Given the description of an element on the screen output the (x, y) to click on. 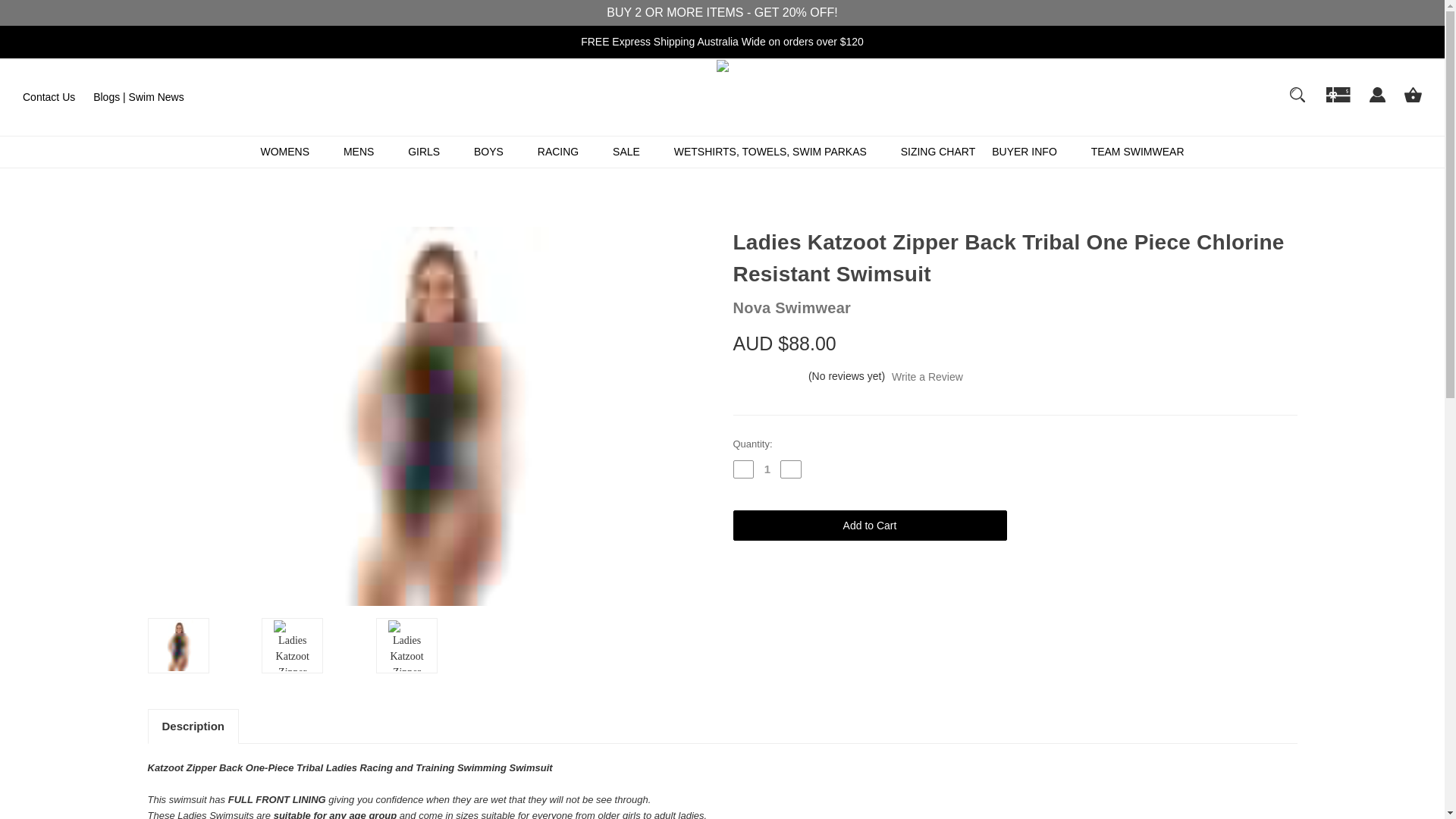
Add to Cart (869, 525)
MAGNIFYING GLASS IMAGE LARGE RED CIRCLE WITH A BLACK BORDER (1297, 101)
GIRLS (431, 151)
Contact Us (48, 96)
MAGNIFYING GLASS IMAGE LARGE RED CIRCLE WITH A BLACK BORDER (1297, 94)
Facebook (998, 580)
GIFT CARD IMAGE LARGE SQUARE BLACK IMAGE WITH A BOW ONTOP (1337, 94)
GIFT CARD IMAGE LARGE SQUARE BLACK IMAGE WITH A BOW ONTOP (1337, 101)
BOYS (497, 151)
WOMENS (292, 151)
1 (767, 468)
MENS (366, 151)
RACING (566, 151)
Linkedin (1031, 580)
